Given the description of an element on the screen output the (x, y) to click on. 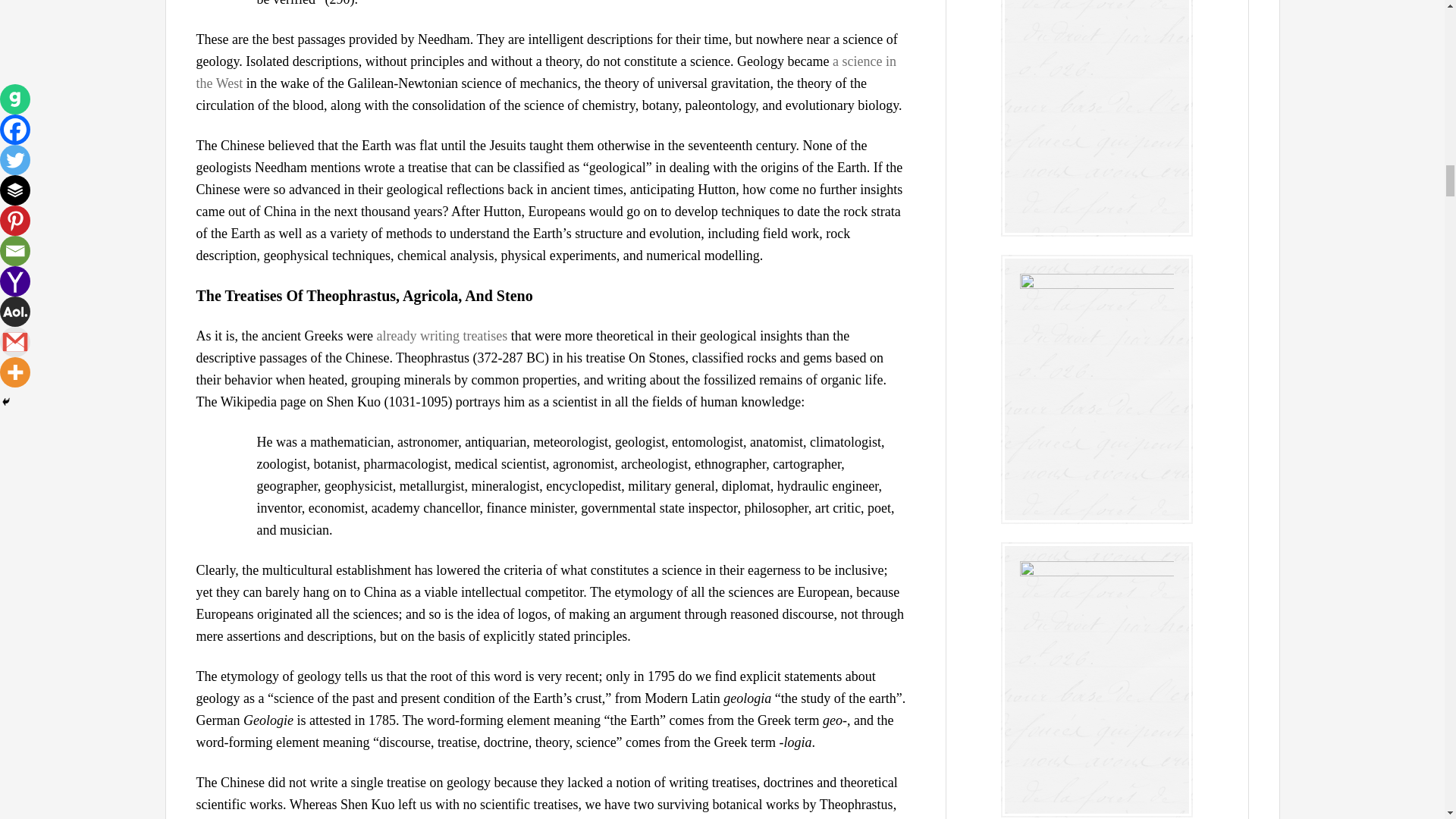
already writing treatises (441, 335)
a science in the West (545, 72)
